Given the description of an element on the screen output the (x, y) to click on. 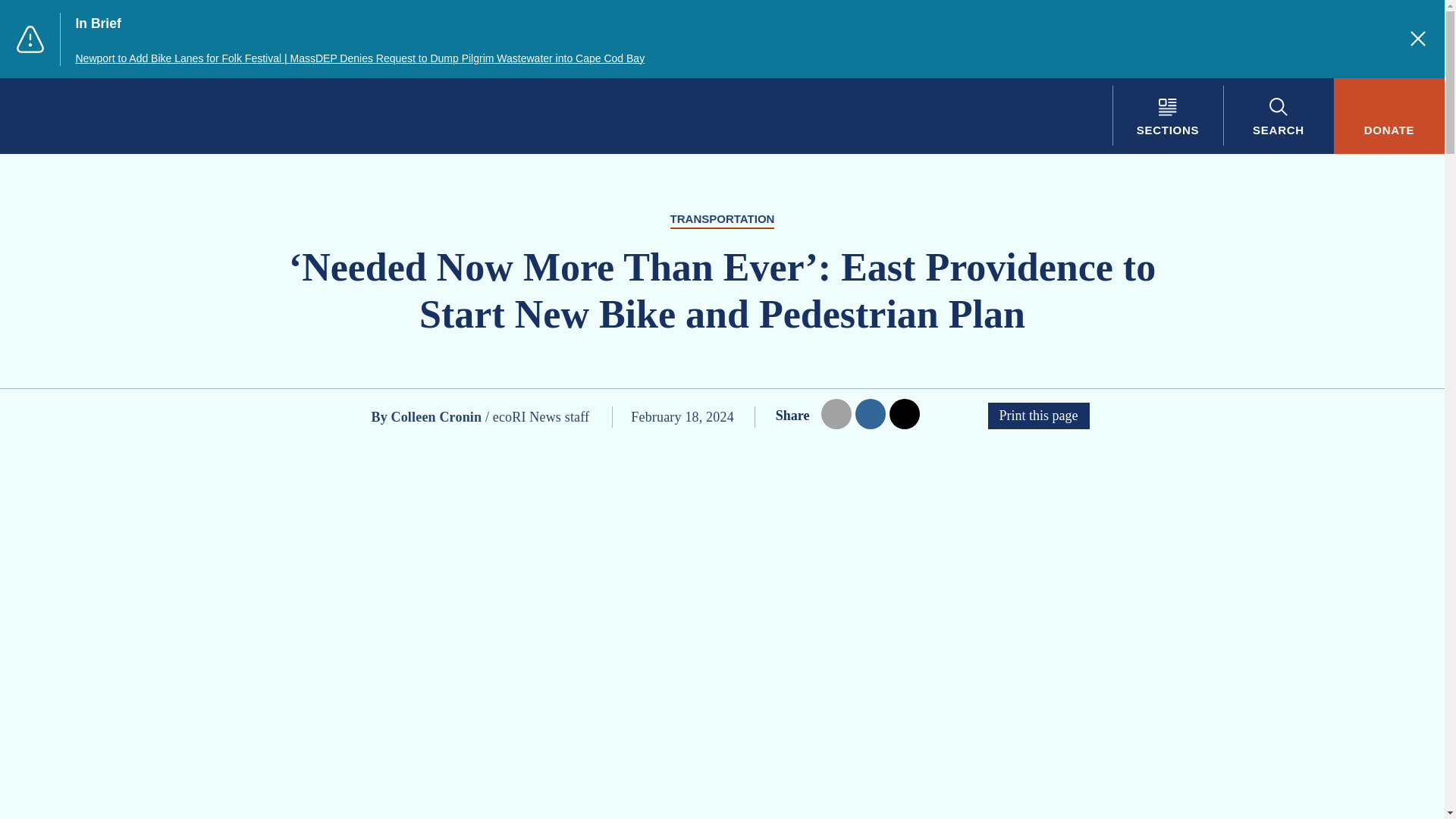
Alert (29, 39)
SECTIONS (1167, 115)
Search Button (1278, 115)
Close (1417, 38)
